Given the description of an element on the screen output the (x, y) to click on. 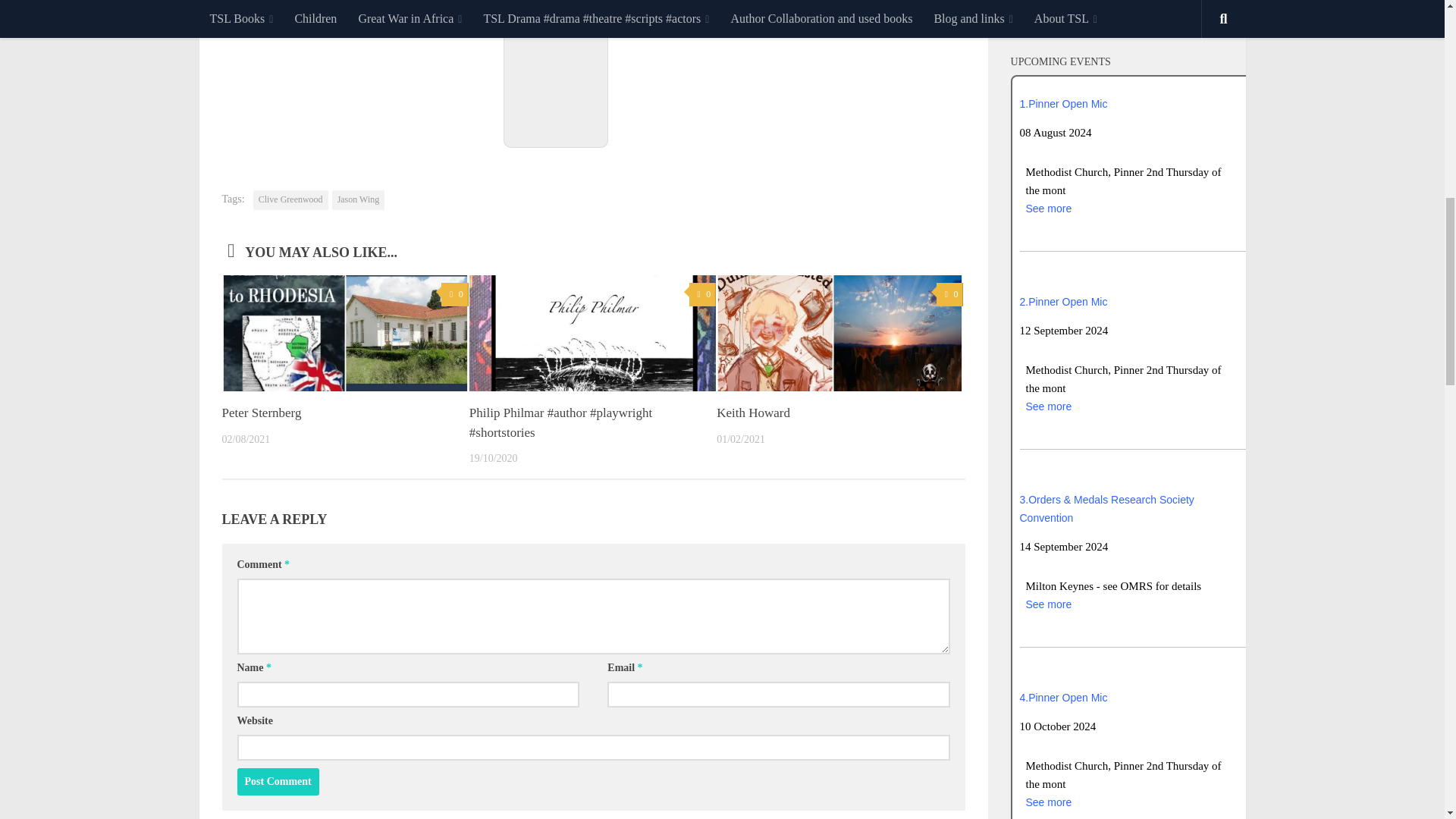
Jason Wing (358, 199)
Clive Greenwood (291, 199)
Post Comment (276, 781)
